Given the description of an element on the screen output the (x, y) to click on. 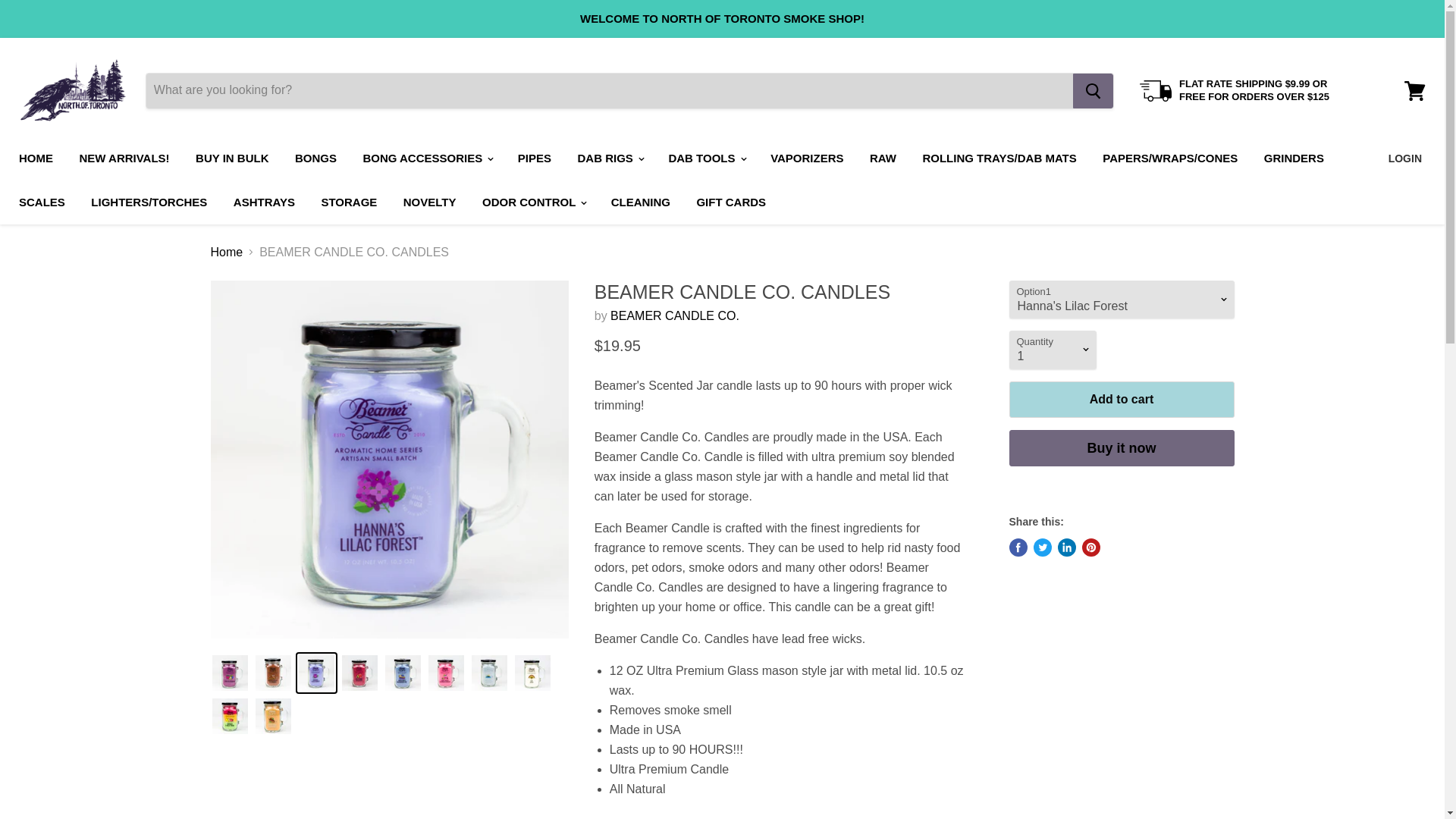
BONG ACCESSORIES (426, 158)
STORAGE (348, 202)
GRINDERS (1293, 158)
DAB TOOLS (705, 158)
NOVELTY (429, 202)
NEW ARRIVALS! (123, 158)
SCALES (42, 202)
View cart (1414, 89)
DAB RIGS (609, 158)
HOME (35, 158)
ODOR CONTROL (532, 202)
PIPES (534, 158)
VAPORIZERS (806, 158)
BEAMER CANDLE CO. (674, 315)
BONGS (315, 158)
